Given the description of an element on the screen output the (x, y) to click on. 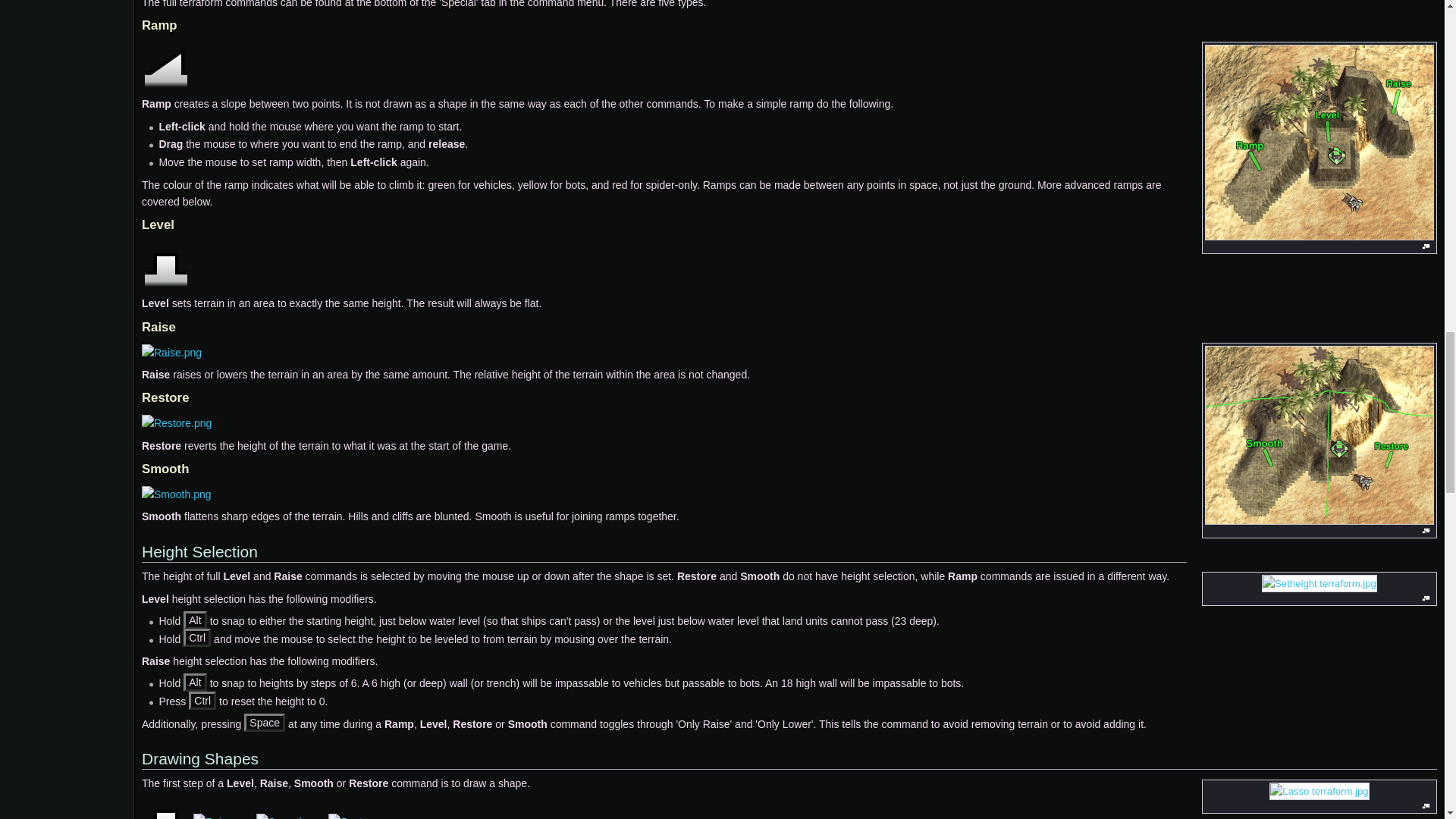
Enlarge (1426, 246)
Enlarge (1426, 806)
Enlarge (1426, 531)
Enlarge (1426, 598)
